Given the description of an element on the screen output the (x, y) to click on. 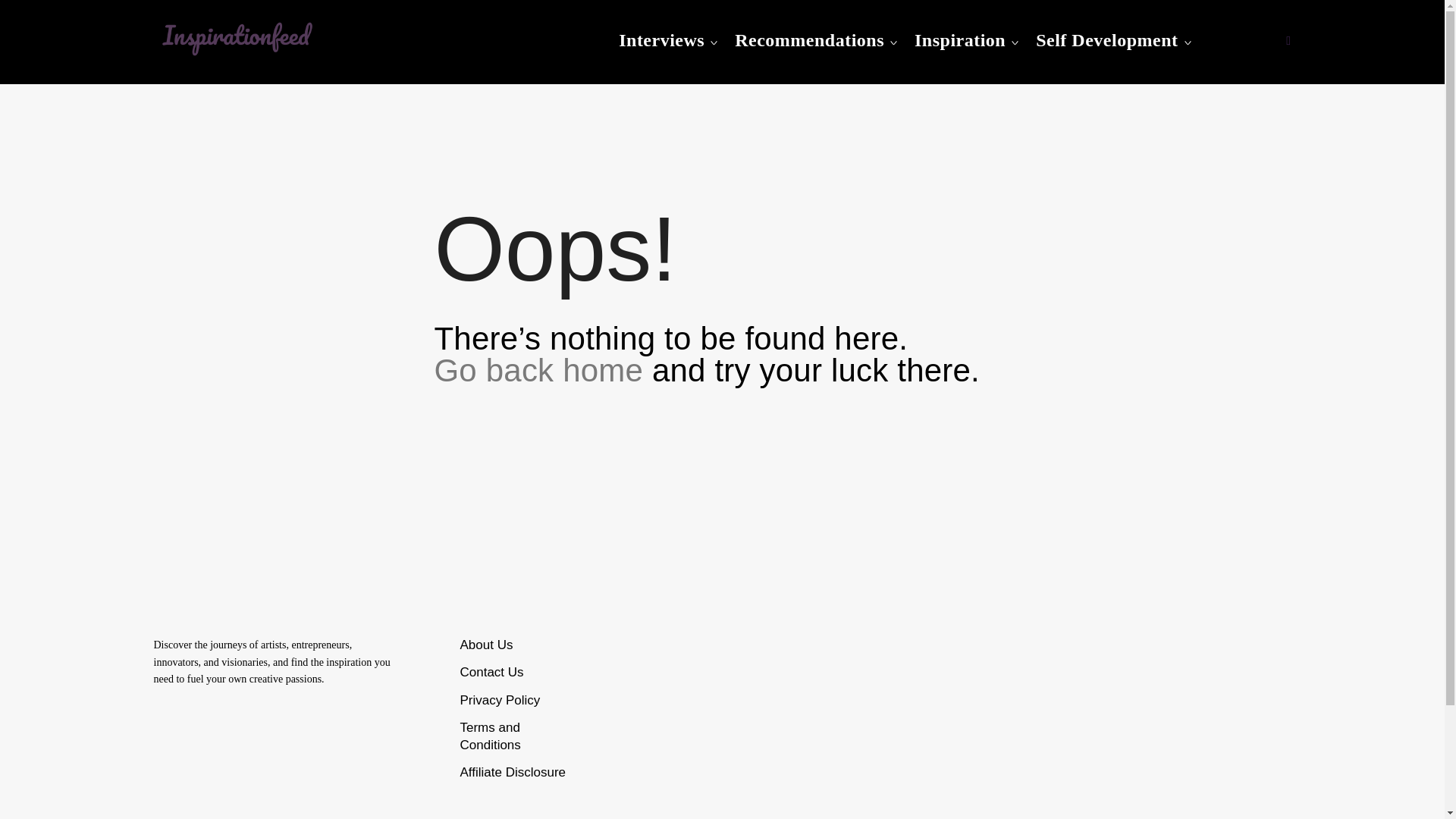
About Us (486, 644)
contact (491, 672)
Inspiration (960, 40)
Recommendations (809, 40)
Search (20, 18)
Privacy Policy (500, 699)
Self Development (1106, 40)
Contact Us (491, 672)
Affiliate Disclosure (513, 771)
Go back home (538, 370)
